Given the description of an element on the screen output the (x, y) to click on. 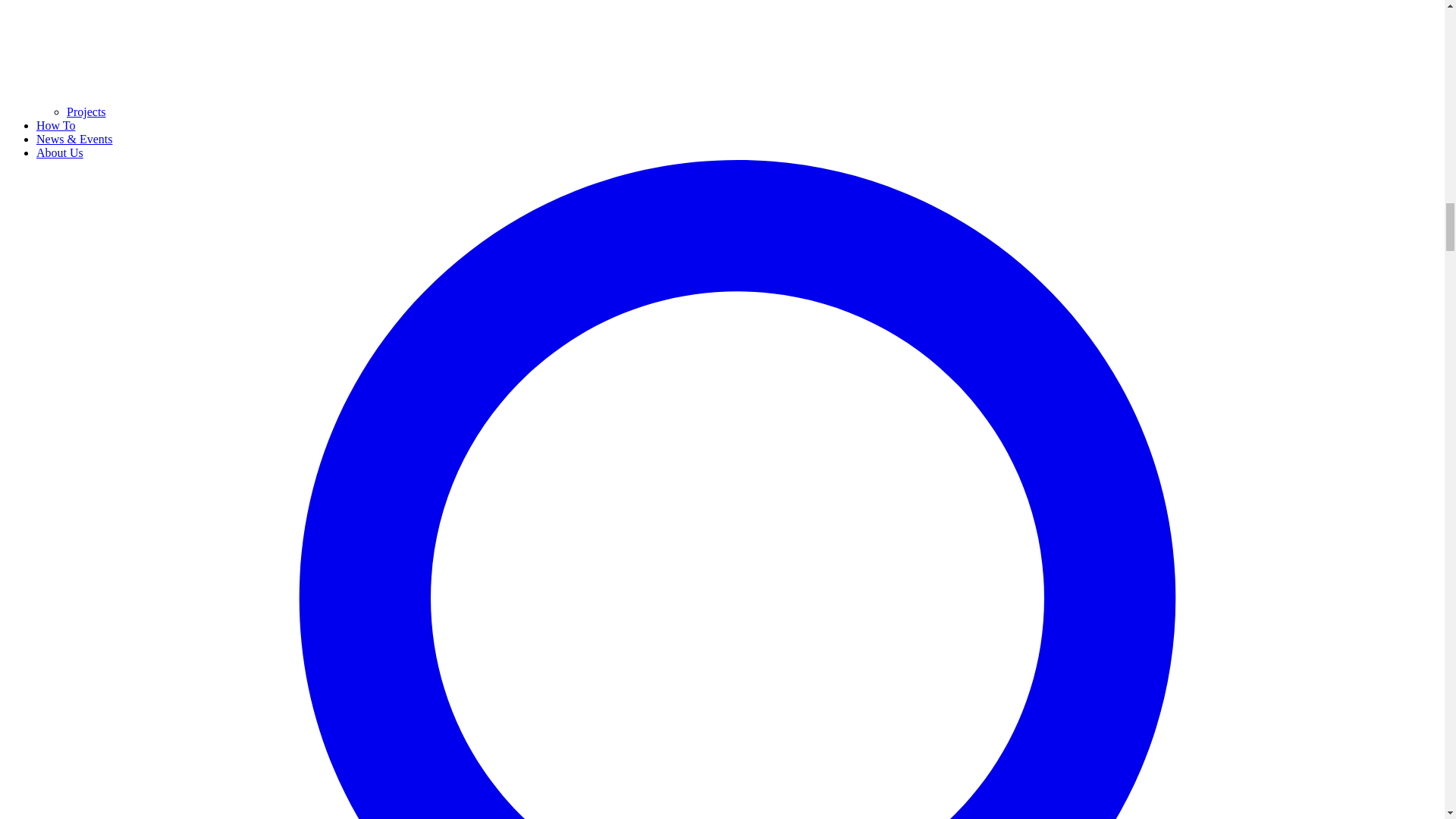
About Us (59, 152)
Projects (86, 111)
About UCSF IT (59, 152)
How To (55, 124)
